Given the description of an element on the screen output the (x, y) to click on. 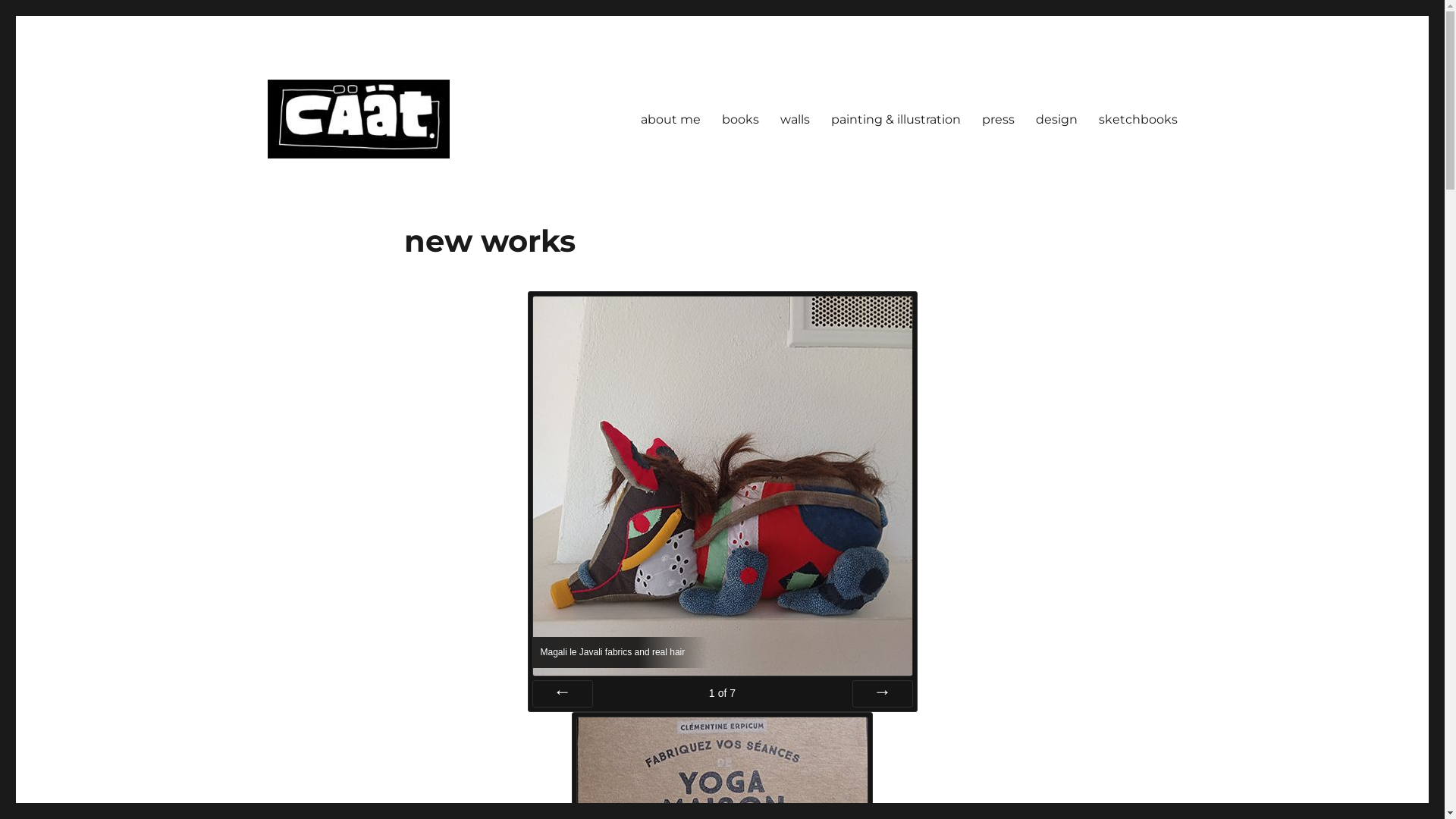
about me Element type: text (669, 118)
walls Element type: text (793, 118)
books Element type: text (740, 118)
painting & illustration Element type: text (895, 118)
press Element type: text (997, 118)
Magali le Javali fabrics and real hair Element type: text (721, 485)
design Element type: text (1056, 118)
sketchbooks Element type: text (1137, 118)
